Given the description of an element on the screen output the (x, y) to click on. 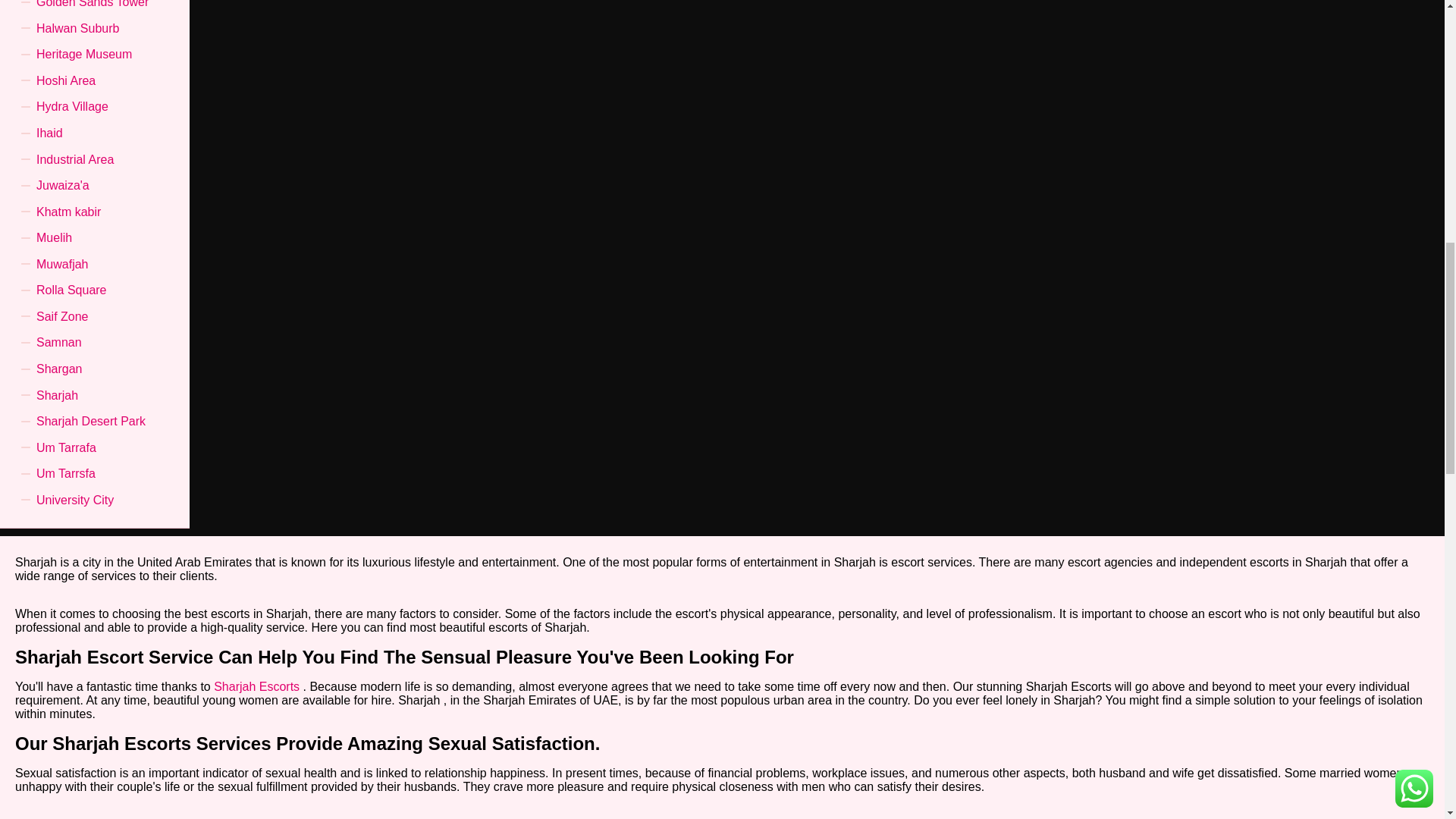
Halwan Suburb (77, 28)
Hydra Village (71, 106)
Hoshi Area (66, 80)
Golden Sands Tower (92, 7)
Ihaid (49, 133)
Heritage Museum (84, 54)
